Given the description of an element on the screen output the (x, y) to click on. 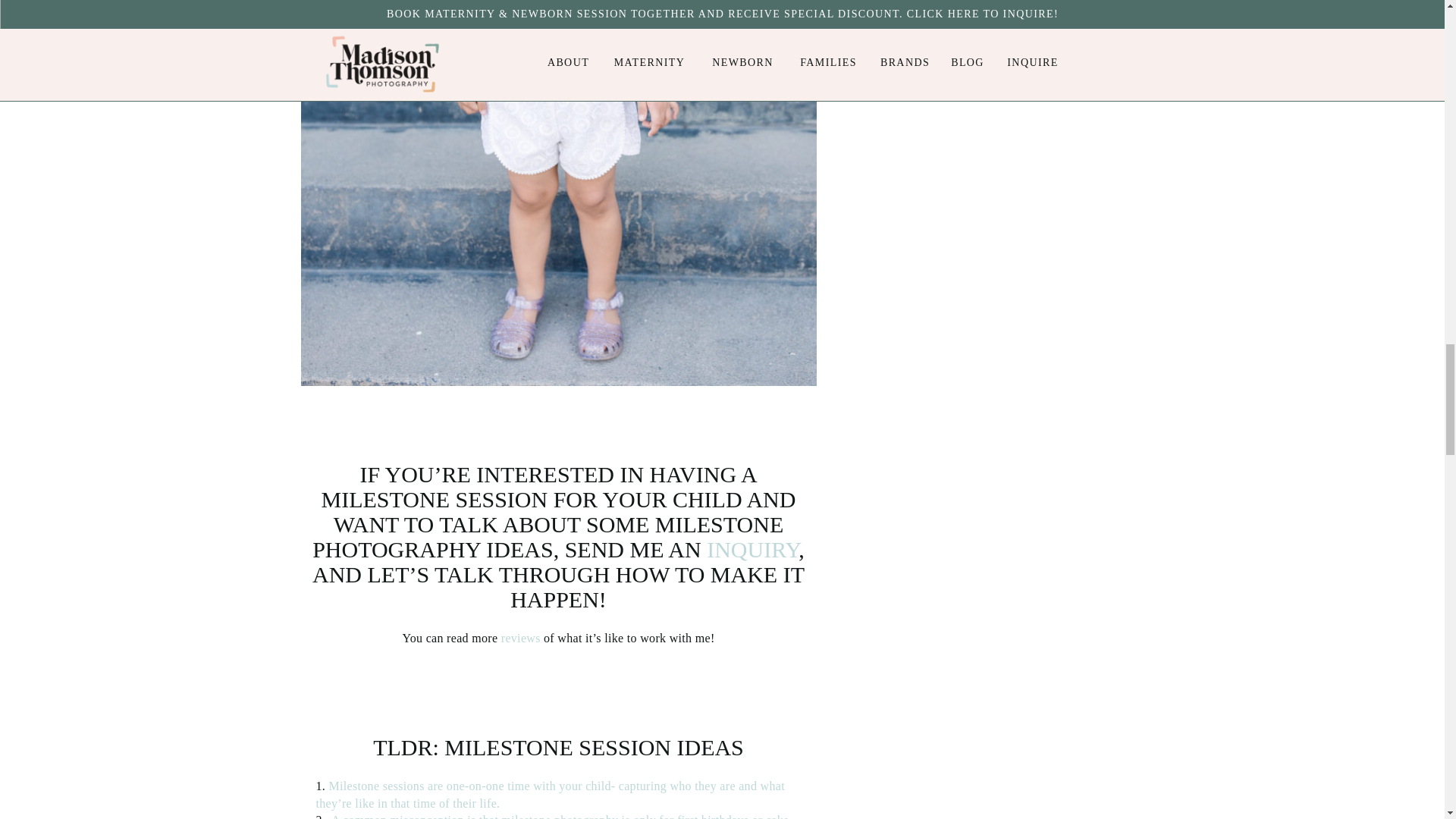
reviews (520, 637)
INQUIRY (751, 549)
